Given the description of an element on the screen output the (x, y) to click on. 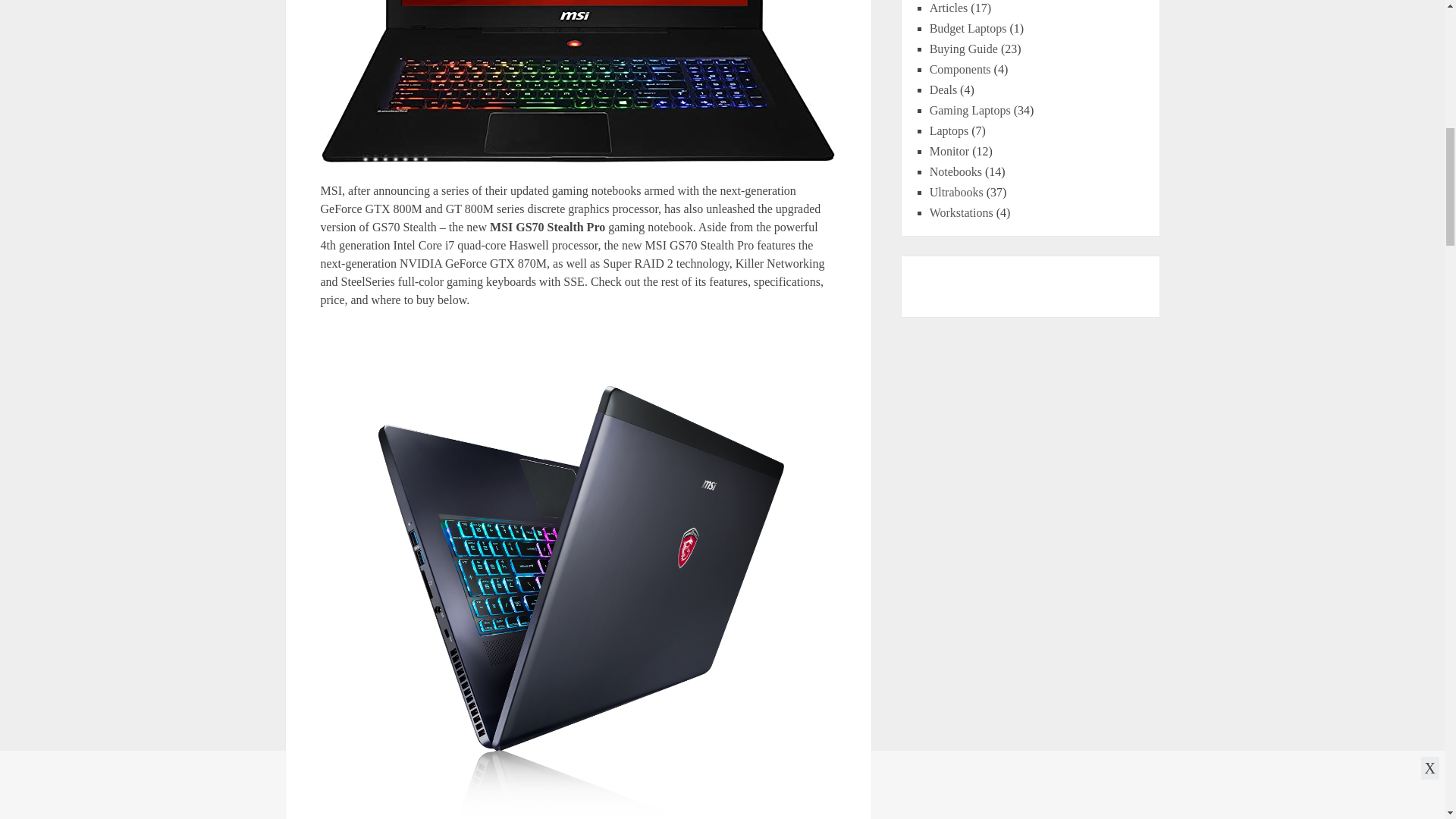
Deals (943, 89)
Components (960, 69)
Articles (949, 7)
Budget Laptops (968, 28)
Gaming Laptops (970, 110)
Buying Guide (963, 48)
Laptops (949, 130)
